Given the description of an element on the screen output the (x, y) to click on. 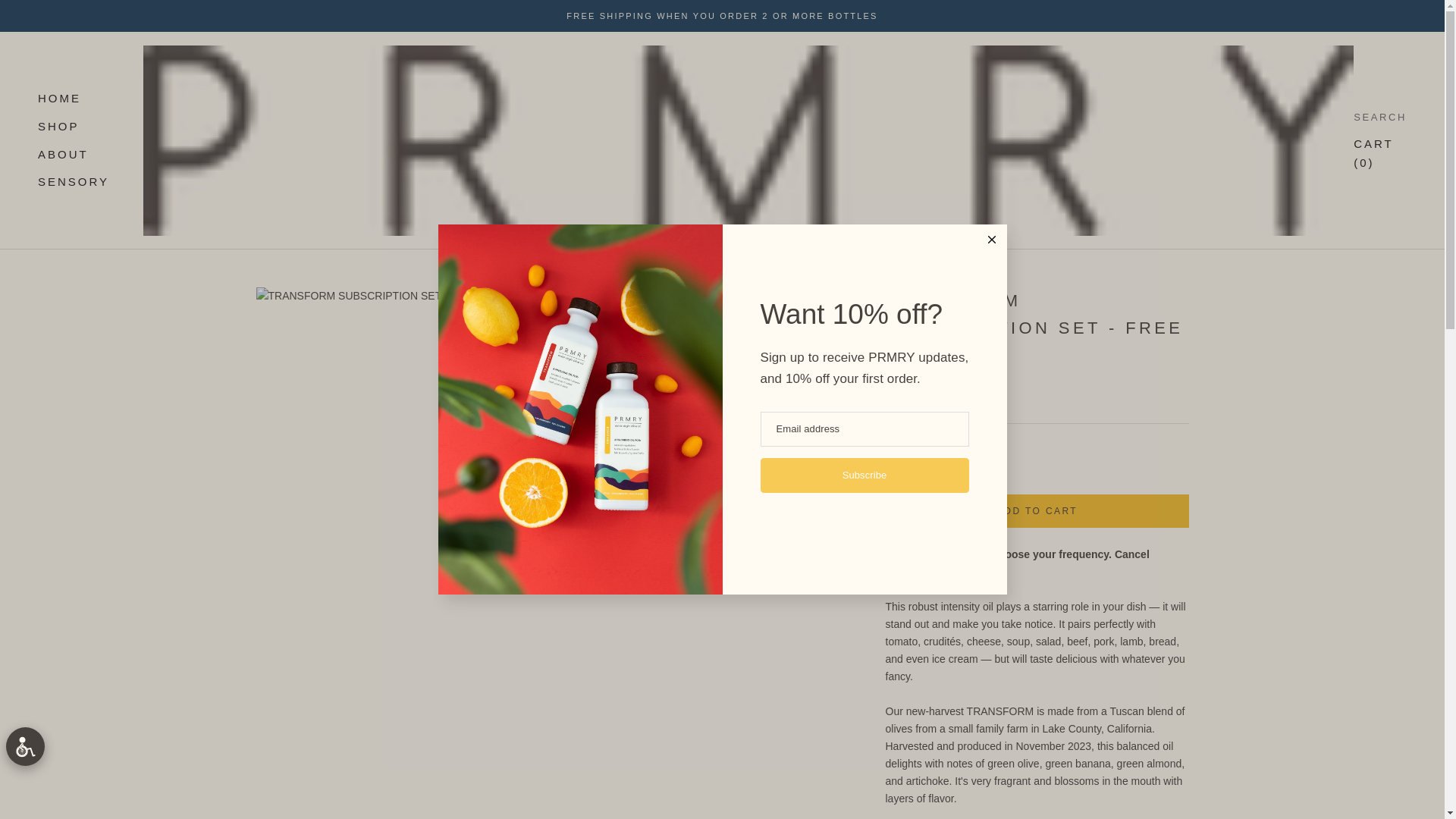
SHOP (58, 125)
ABOUT (59, 97)
1 (62, 154)
